Given the description of an element on the screen output the (x, y) to click on. 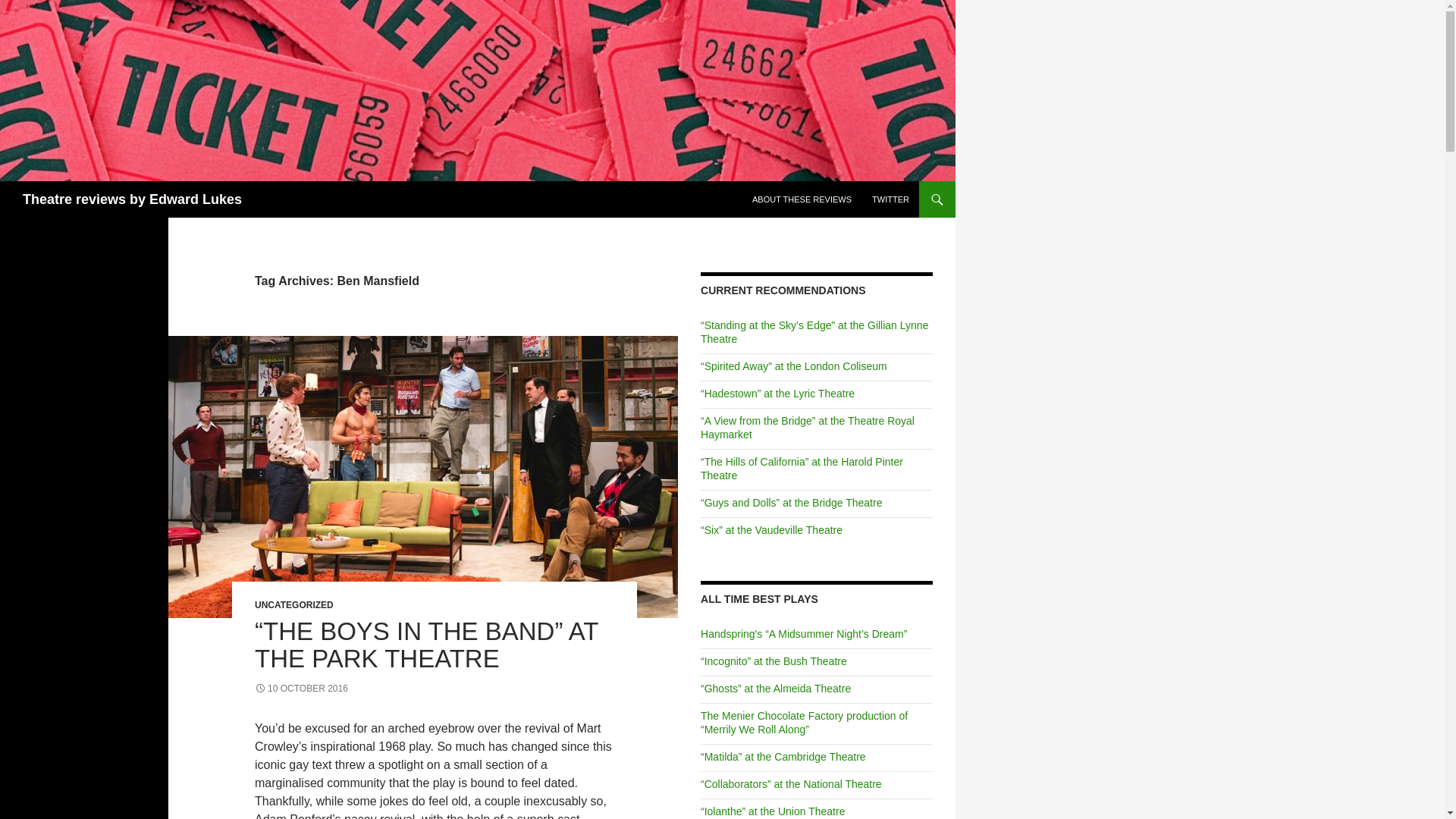
UNCATEGORIZED (293, 604)
ABOUT THESE REVIEWS (801, 198)
10 OCTOBER 2016 (300, 688)
TWITTER (890, 198)
Theatre reviews by Edward Lukes (132, 198)
